Given the description of an element on the screen output the (x, y) to click on. 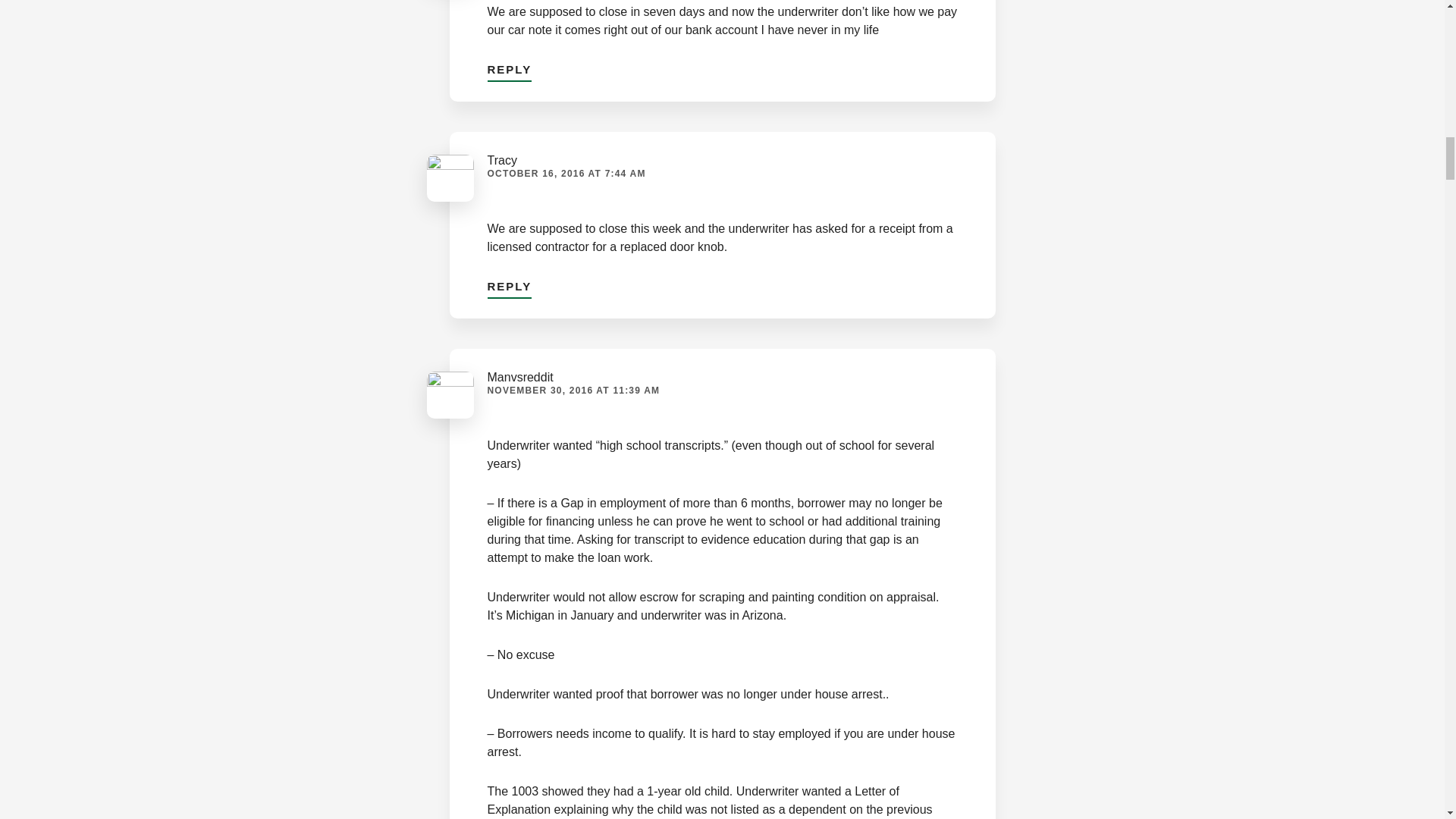
OCTOBER 16, 2016 AT 7:44 AM (565, 173)
REPLY (508, 282)
REPLY (508, 65)
NOVEMBER 30, 2016 AT 11:39 AM (572, 389)
